Given the description of an element on the screen output the (x, y) to click on. 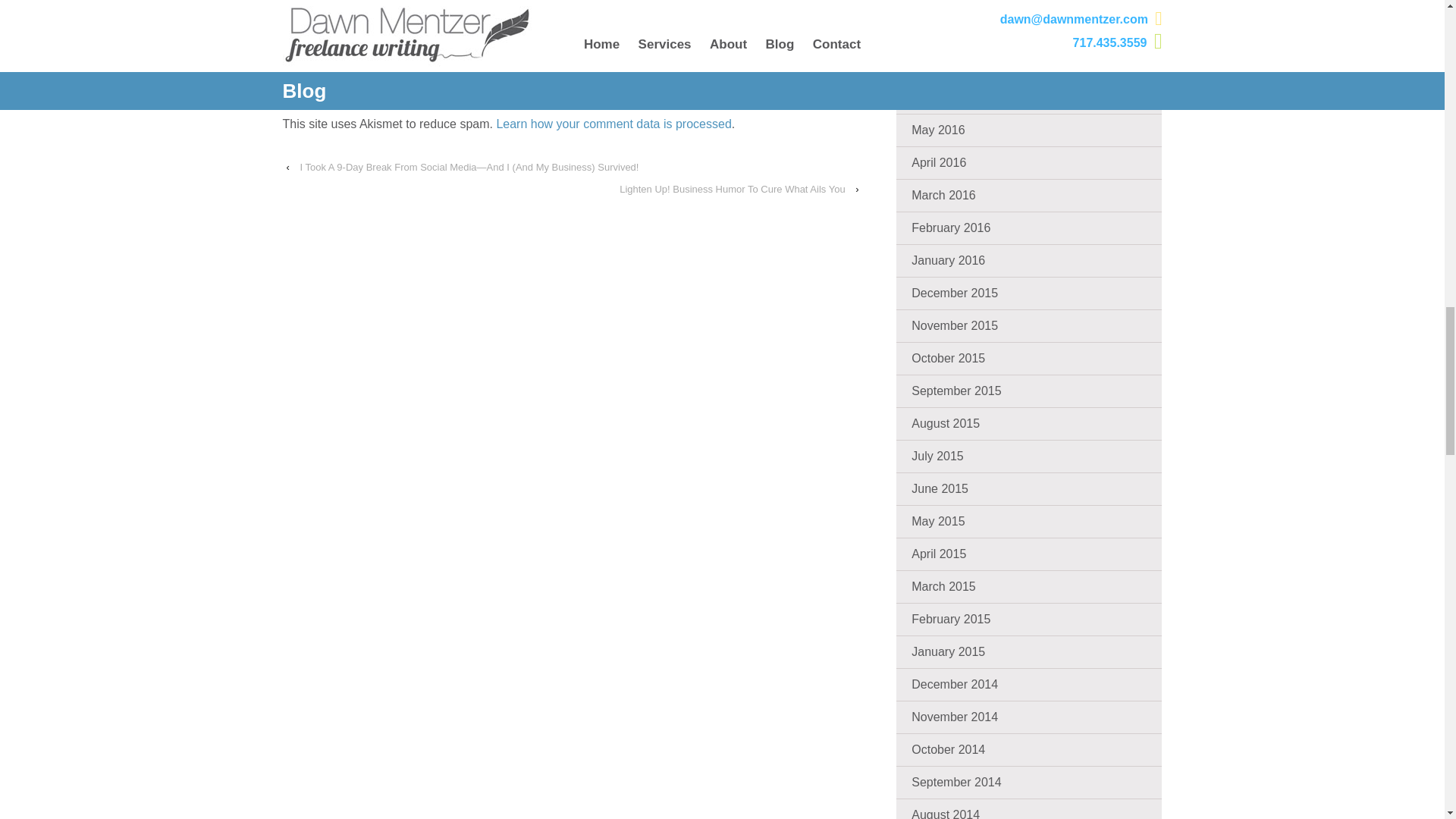
Lighten Up! Business Humor To Cure What Ails You (731, 189)
yes (303, 2)
Post Comment (371, 37)
Post Comment (371, 37)
Learn how your comment data is processed (613, 123)
